Given the description of an element on the screen output the (x, y) to click on. 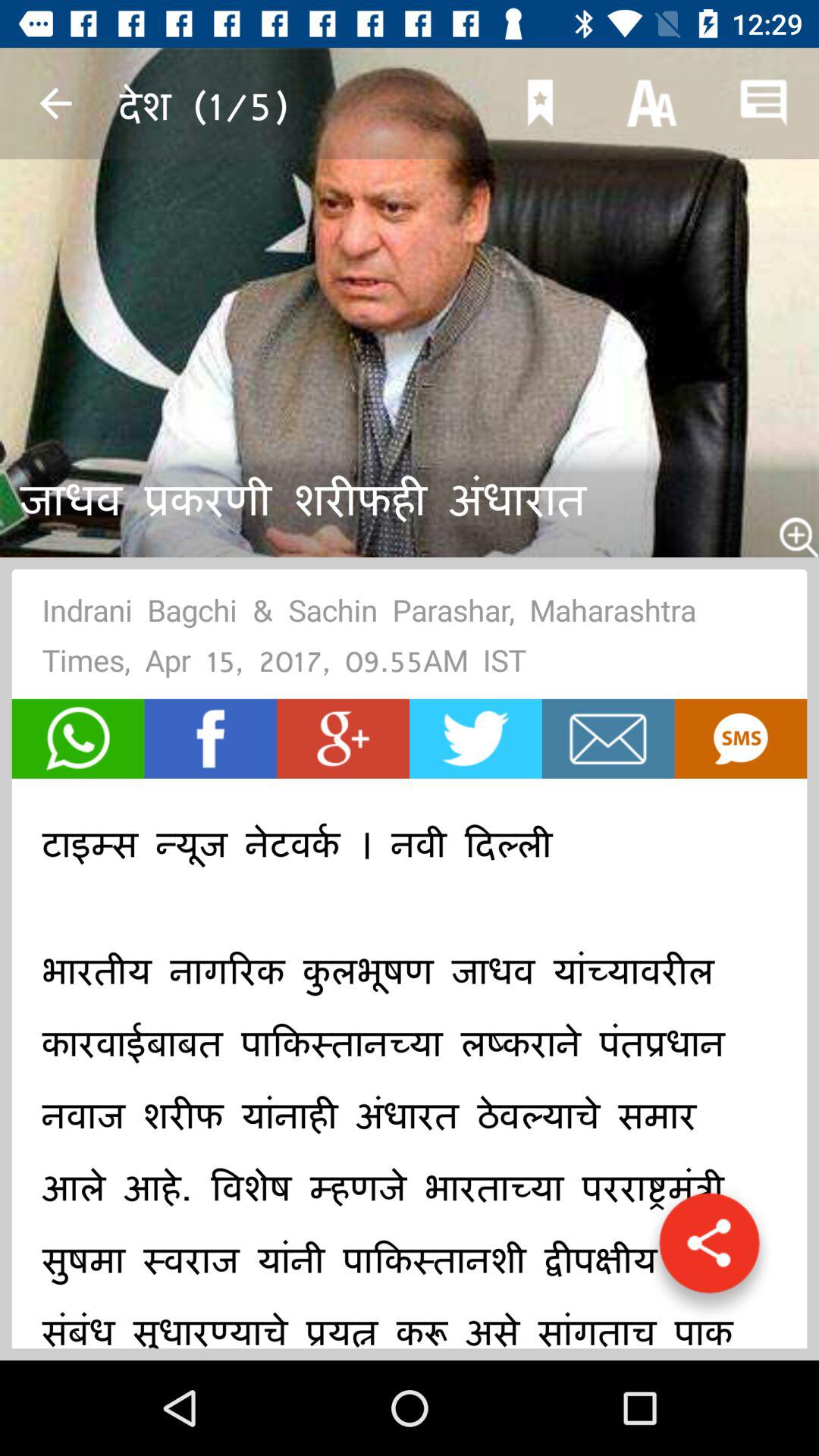
facebook (210, 738)
